Given the description of an element on the screen output the (x, y) to click on. 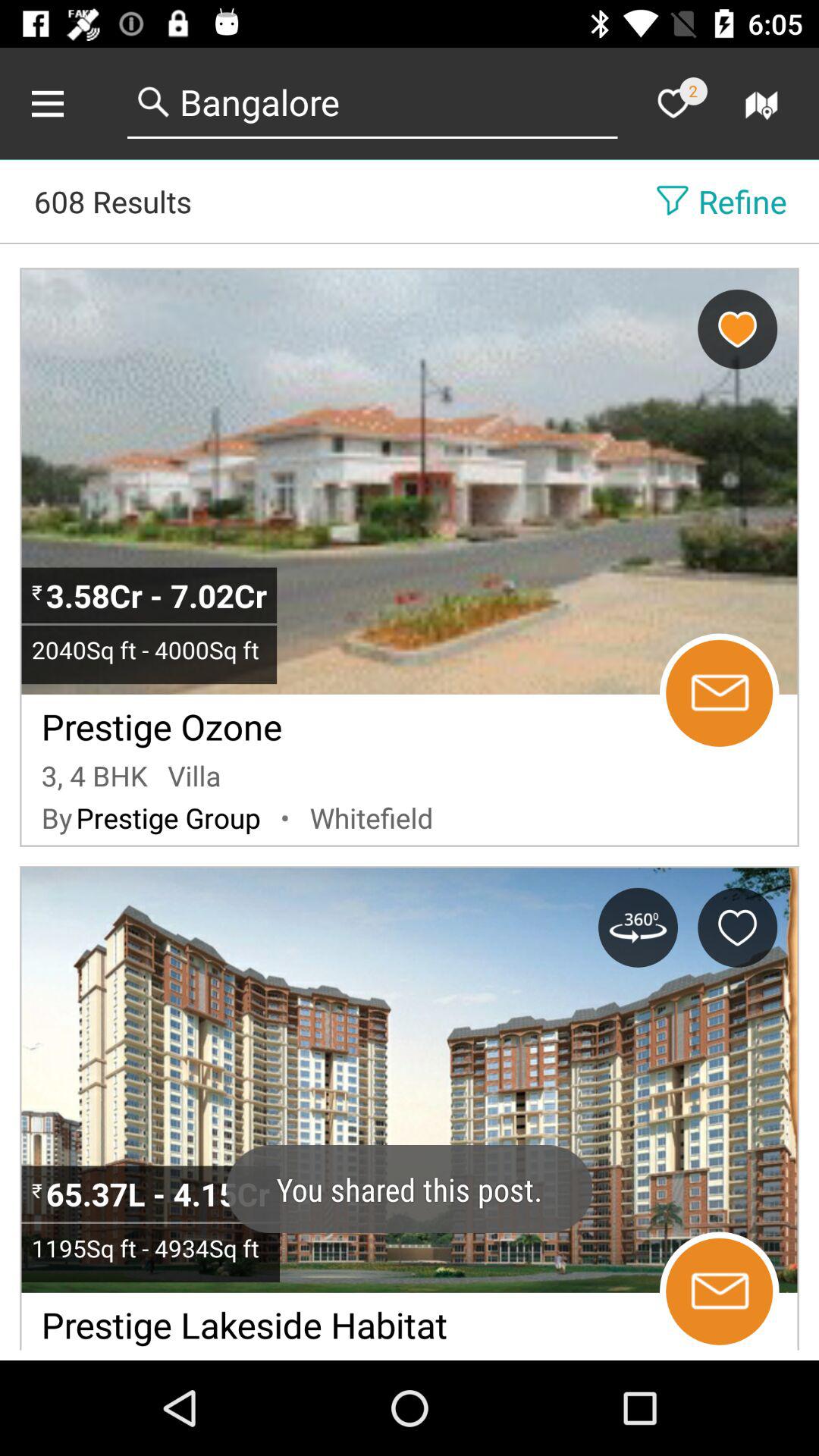
jump to the 65 37l 4 item (160, 1193)
